Given the description of an element on the screen output the (x, y) to click on. 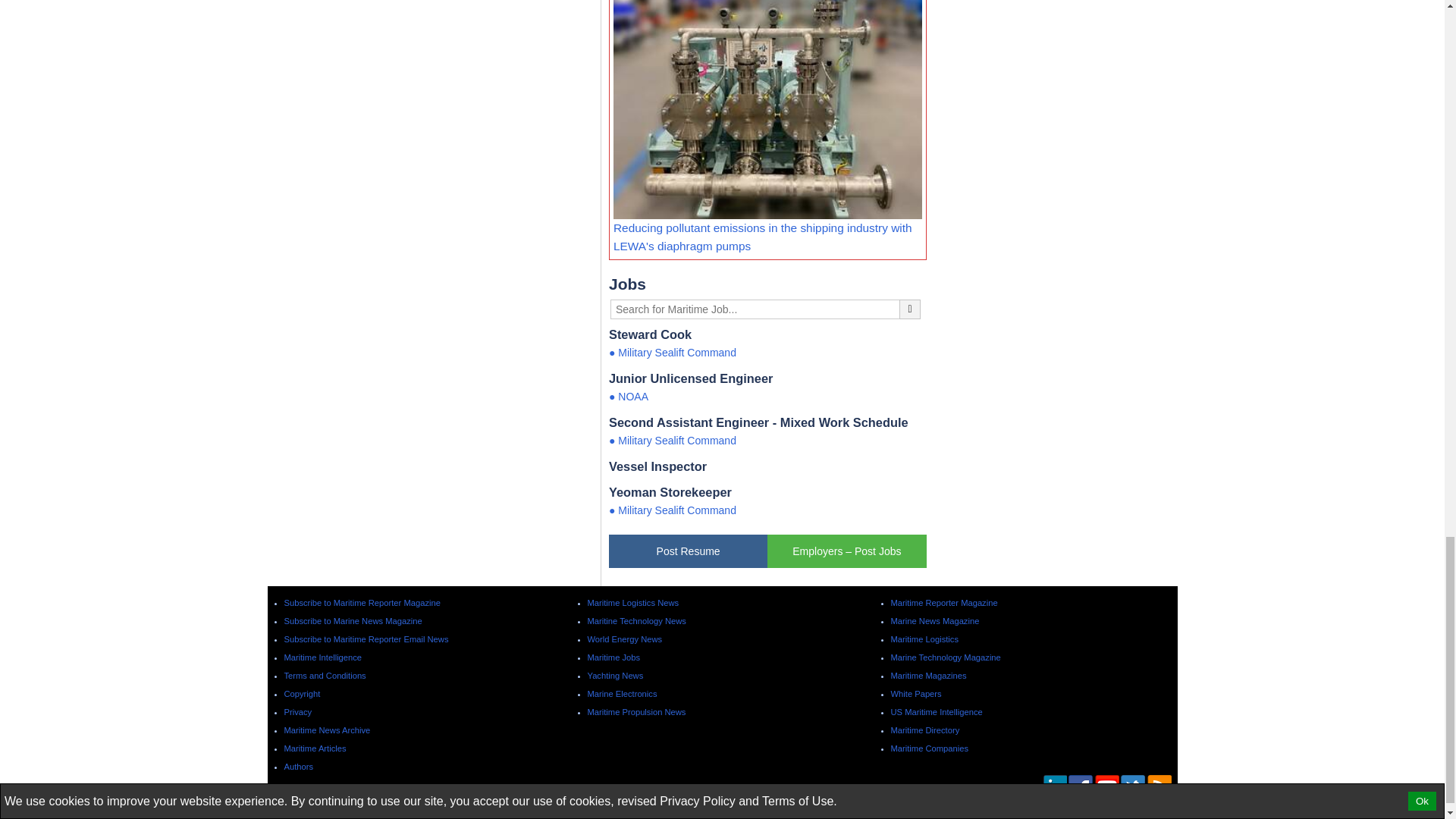
Maritime News Archive (326, 729)
Maritime Logistics (632, 602)
Maritine Technology News (635, 620)
Post Resume (687, 551)
Vessel Inspector (767, 466)
Maritime Jobs (613, 656)
World Energy News (624, 638)
Marine Link Authors (298, 766)
